Given the description of an element on the screen output the (x, y) to click on. 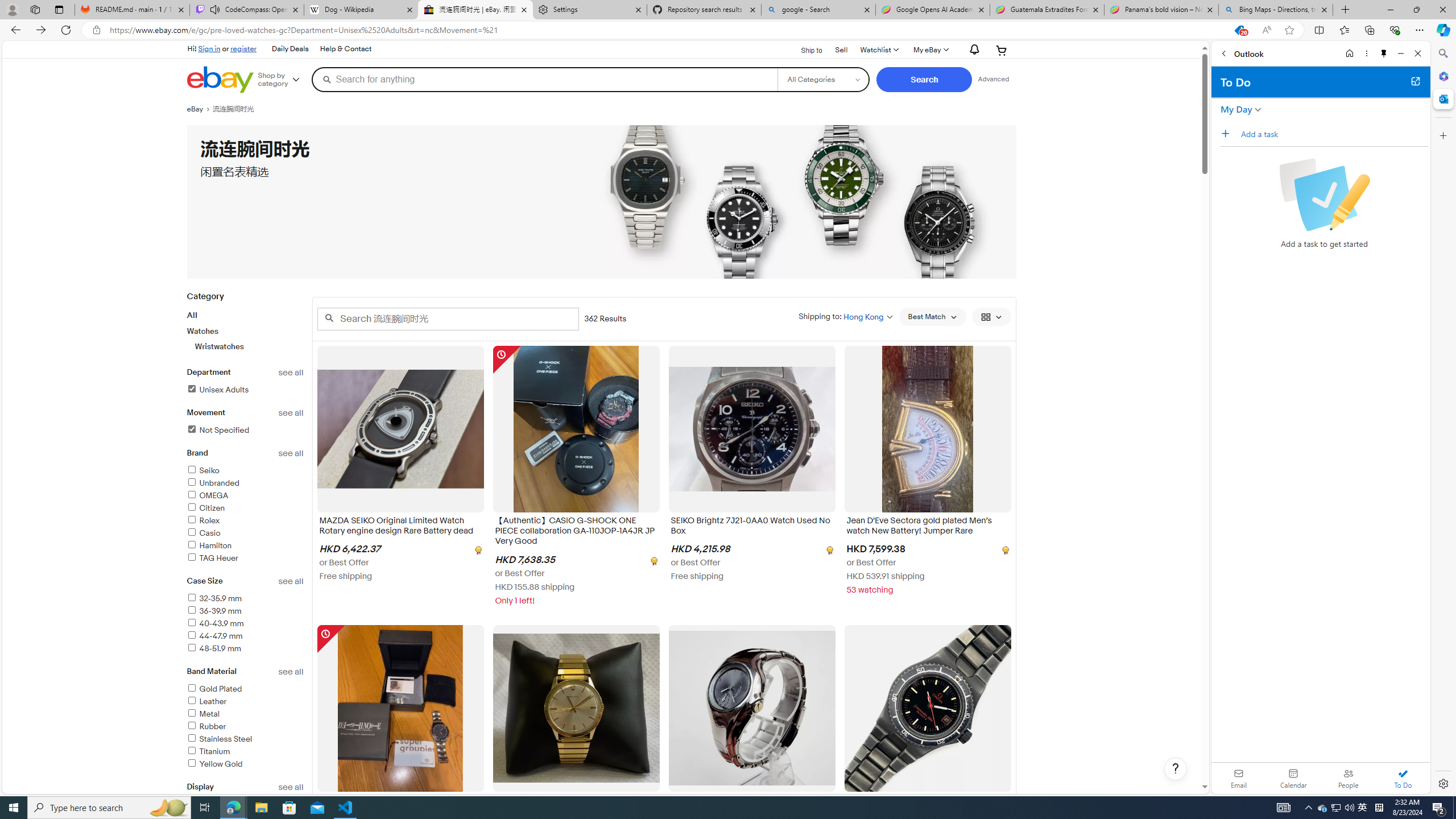
Ship to (804, 50)
Daily Deals (289, 49)
SEIKO Brightz 7J21-0AA0 Watch Used No Box (751, 527)
Mute tab (215, 8)
Rubber (205, 726)
Yellow Gold (214, 764)
eBay (199, 108)
Select a category for search (823, 78)
View: Gallery View (991, 316)
40-43.9 mm (215, 623)
